Given the description of an element on the screen output the (x, y) to click on. 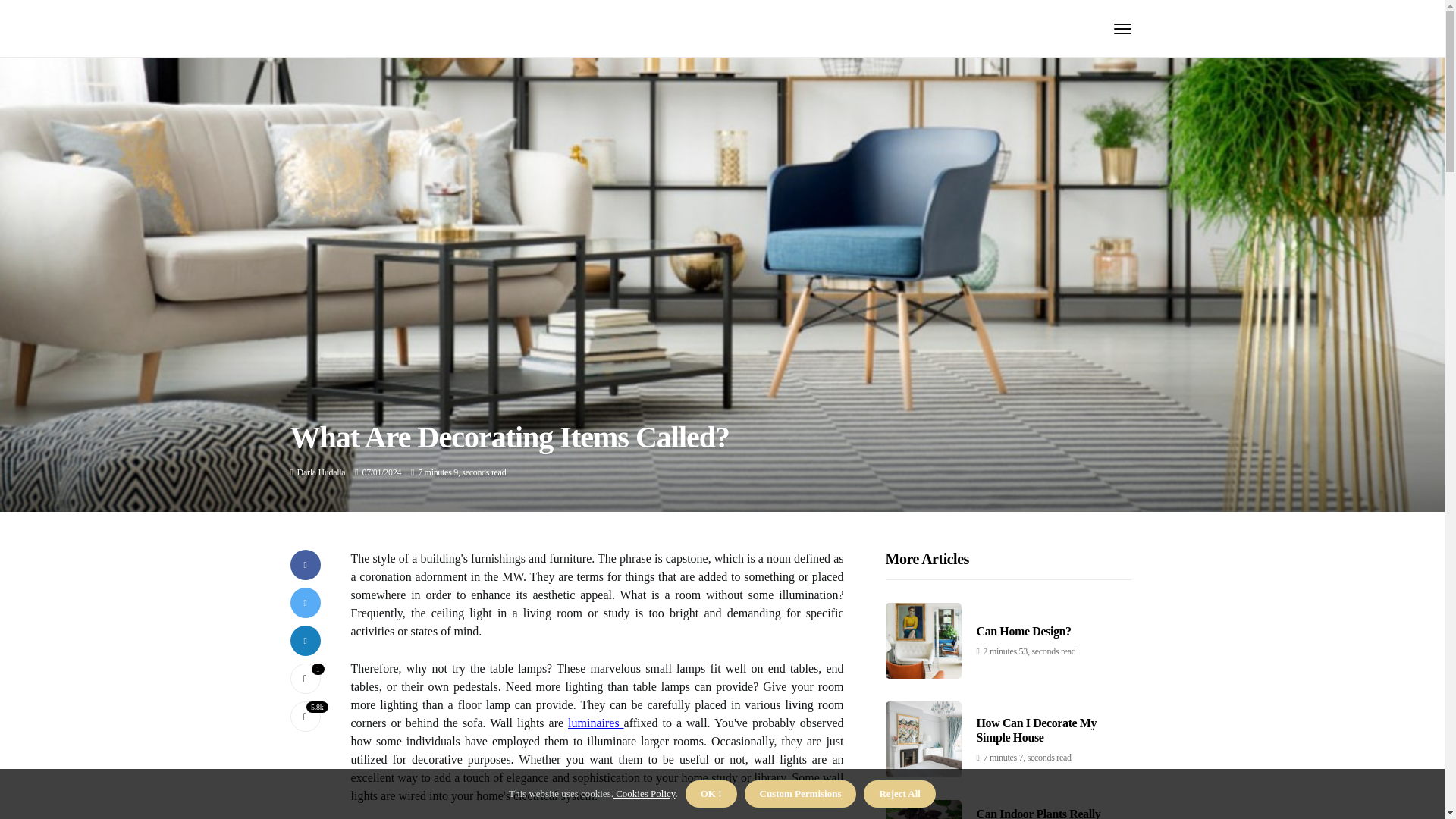
Darla Hudalla (321, 471)
How Can I Decorate My Simple House (1036, 729)
1 (304, 678)
luminaires (595, 722)
Posts by Darla Hudalla (321, 471)
Like (304, 678)
Can Home Design? (1023, 631)
